Given the description of an element on the screen output the (x, y) to click on. 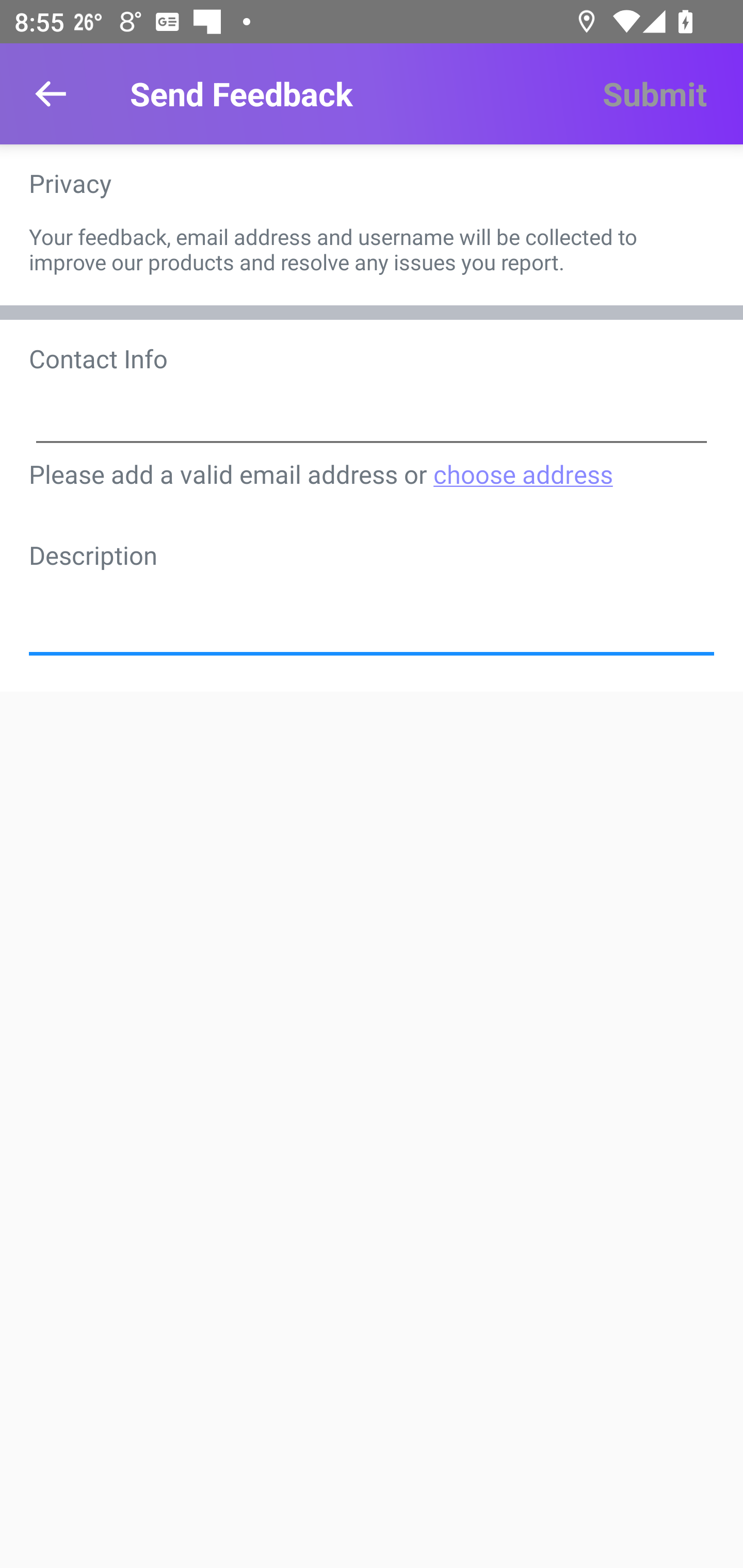
Navigate up (50, 93)
Submit (654, 94)
choose address (522, 473)
feedback (371, 608)
